Given the description of an element on the screen output the (x, y) to click on. 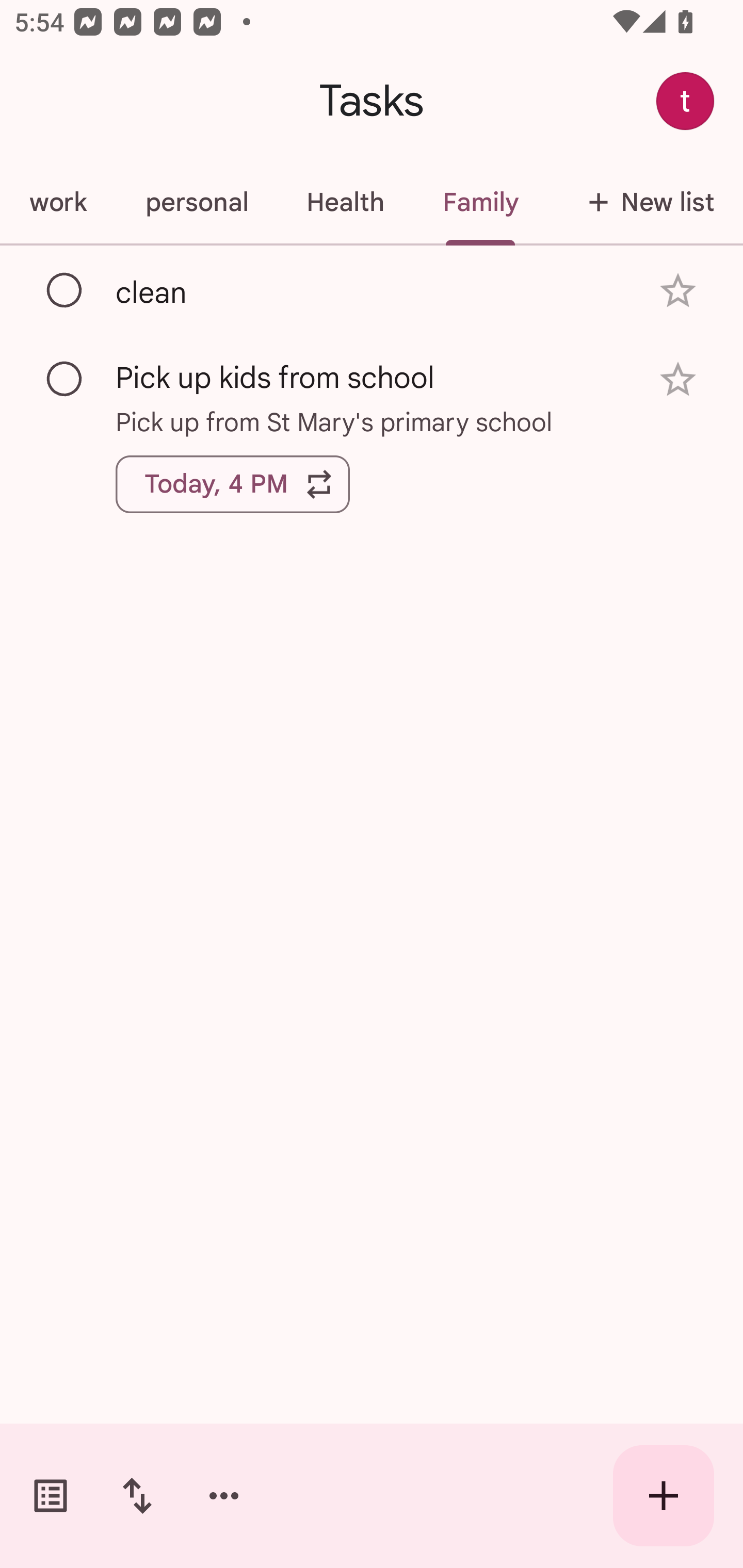
work (57, 202)
personal (196, 202)
Health (345, 202)
New list (645, 202)
clean clean Add star Mark as complete (371, 289)
Add star (677, 290)
Mark as complete (64, 290)
Add star (677, 379)
Mark as complete (64, 379)
Pick up from St Mary's primary school (371, 421)
Today, 4 PM (232, 484)
Switch task lists (50, 1495)
Create new task (663, 1495)
Change sort order (136, 1495)
More options (223, 1495)
